Given the description of an element on the screen output the (x, y) to click on. 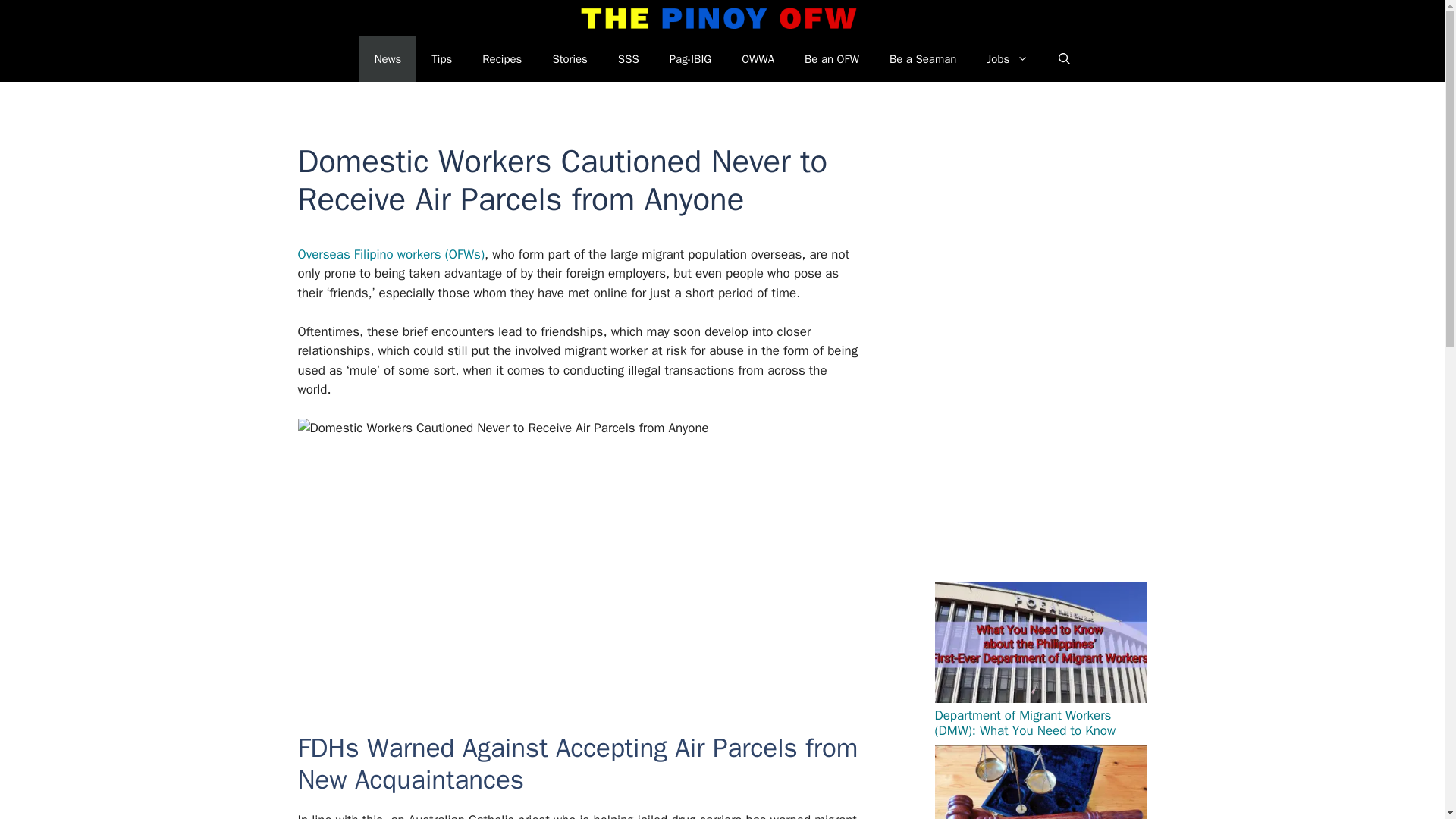
SSS (627, 58)
OWWA (757, 58)
Tips (441, 58)
Jobs (1007, 58)
News (387, 58)
Recipes (502, 58)
The Pinoy OFW (718, 18)
Be a Seaman (923, 58)
Pag-IBIG (689, 58)
Stories (569, 58)
Be an OFW (832, 58)
